Given the description of an element on the screen output the (x, y) to click on. 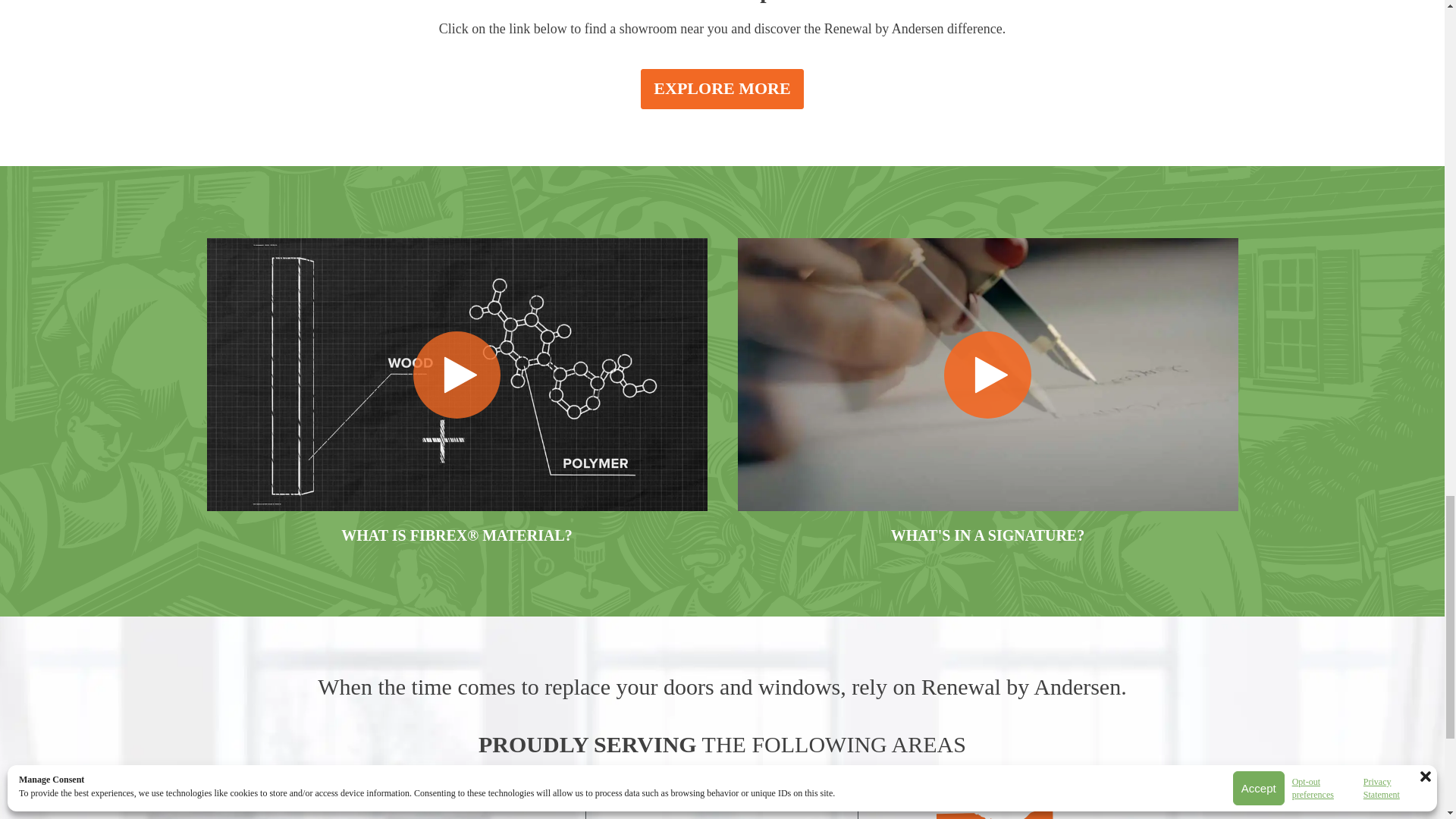
EXPLORE MORE (721, 88)
OHIO (994, 811)
